Given the description of an element on the screen output the (x, y) to click on. 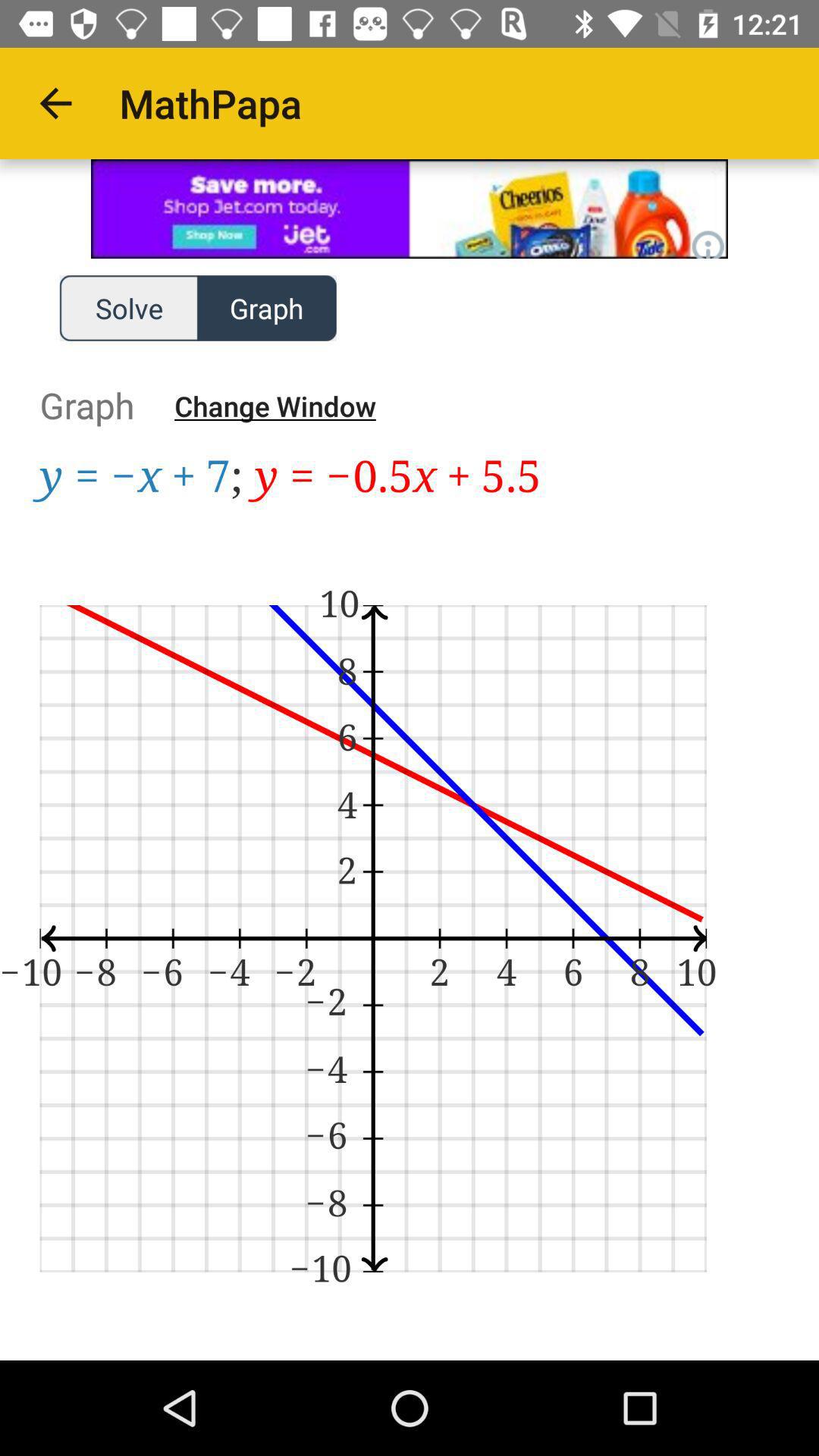
visit advertiser page (409, 208)
